Given the description of an element on the screen output the (x, y) to click on. 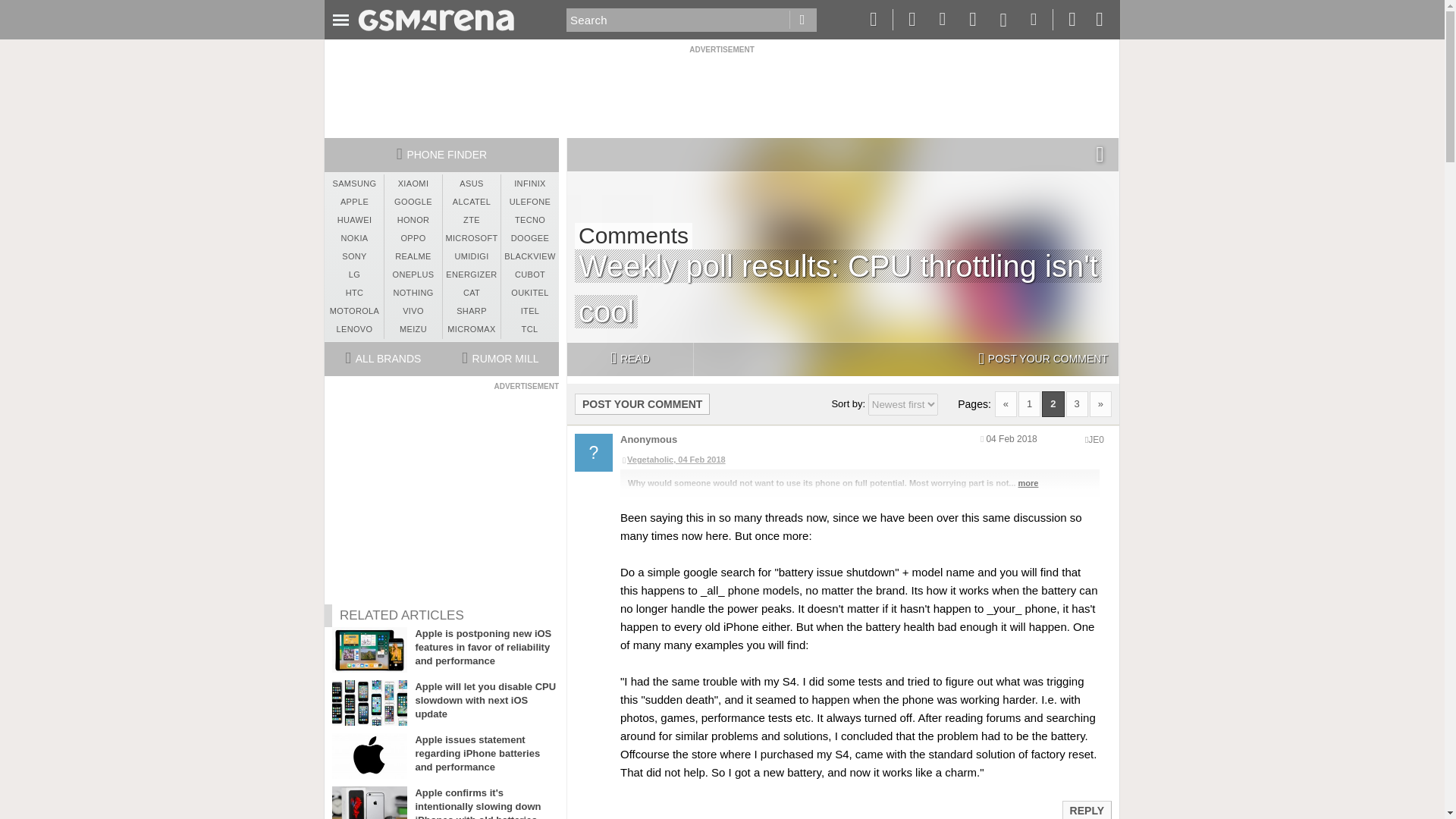
Go (802, 19)
Go (802, 19)
Sort comments by (902, 404)
Reply to this post (1086, 810)
READ (630, 359)
POST YOUR COMMENT (1042, 359)
POST YOUR COMMENT (642, 403)
more (1028, 482)
Encoded anonymized location (1095, 439)
Vegetaholic, 04 Feb 2018 (859, 459)
